Given the description of an element on the screen output the (x, y) to click on. 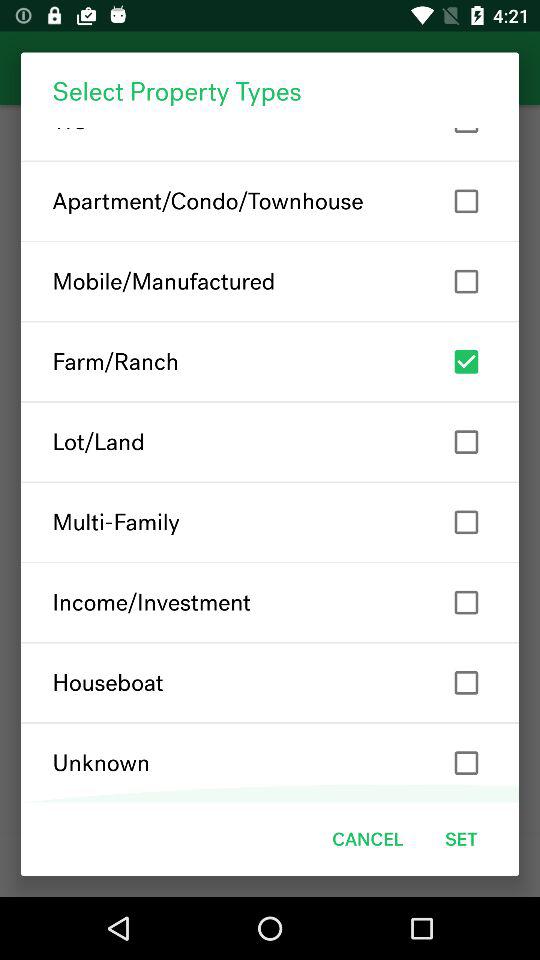
turn on icon next to set item (367, 838)
